Given the description of an element on the screen output the (x, y) to click on. 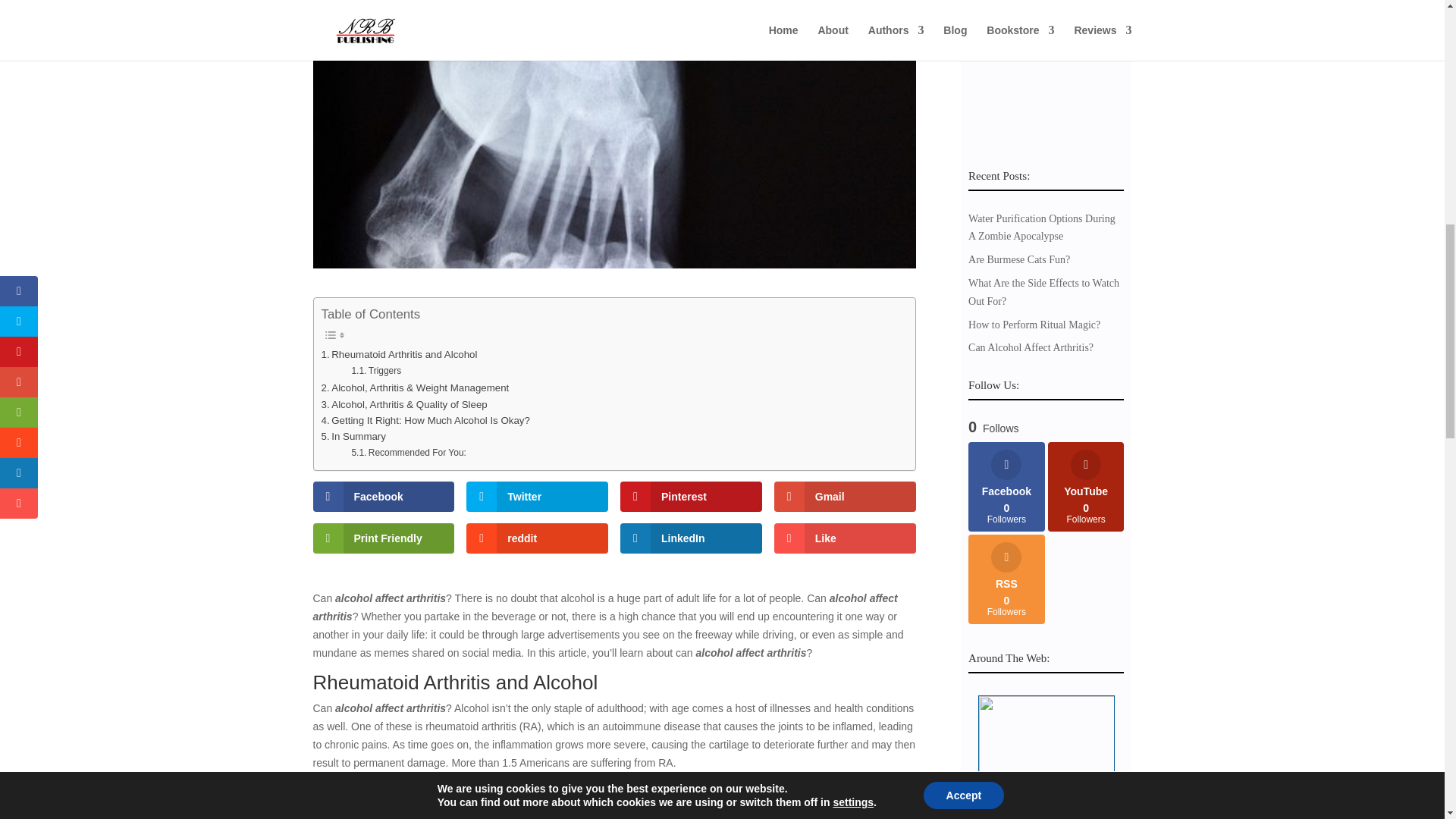
Rheumatoid Arthritis and Alcohol (399, 354)
Triggers (425, 420)
Recommended For You: (375, 370)
In Summary (407, 452)
